Given the description of an element on the screen output the (x, y) to click on. 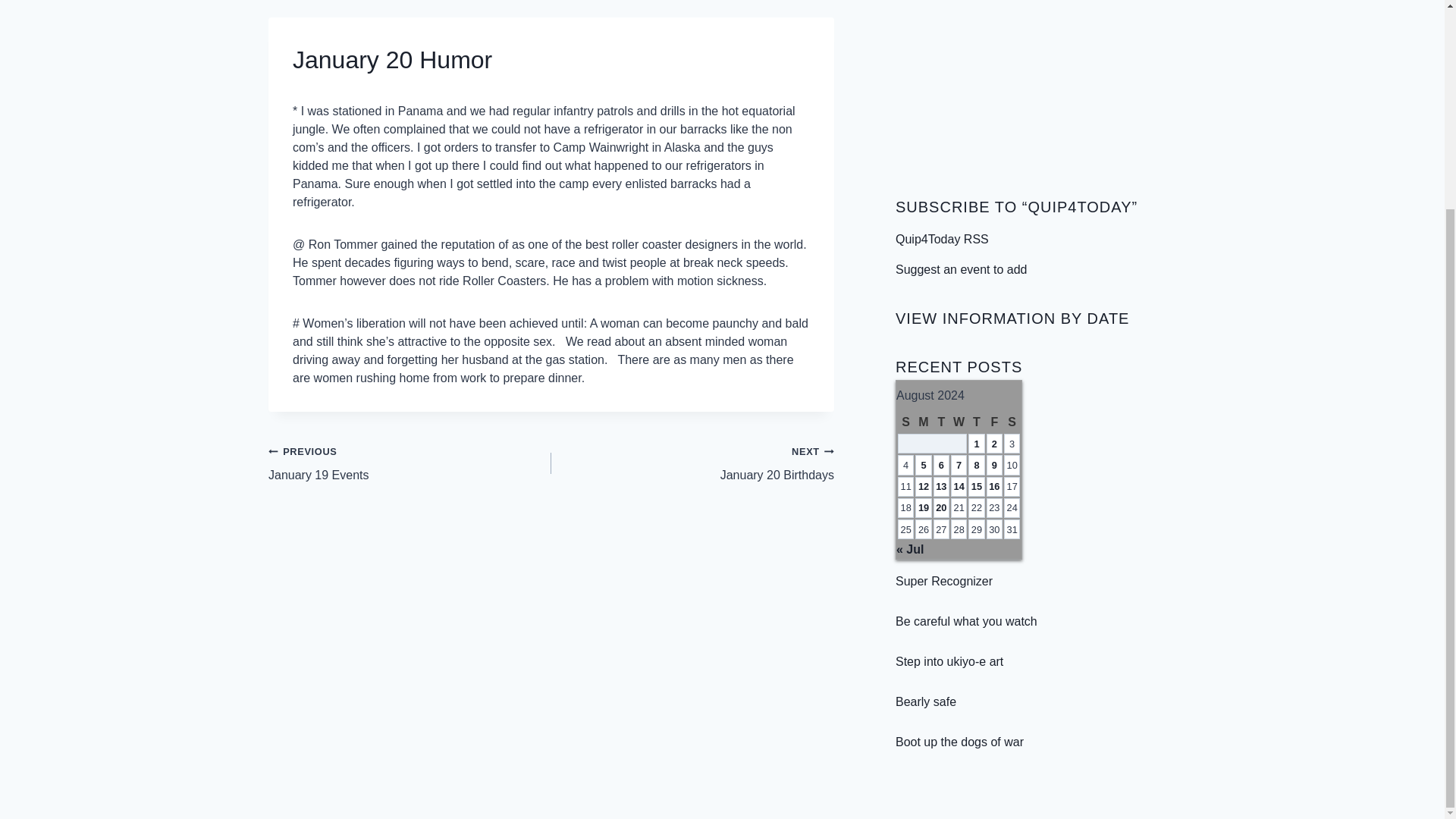
Bearly safe (692, 463)
19 (925, 701)
14 (923, 507)
13 (958, 486)
Step into ukiyo-e art (941, 486)
15 (949, 661)
Be careful what you watch (976, 486)
16 (965, 621)
